Given the description of an element on the screen output the (x, y) to click on. 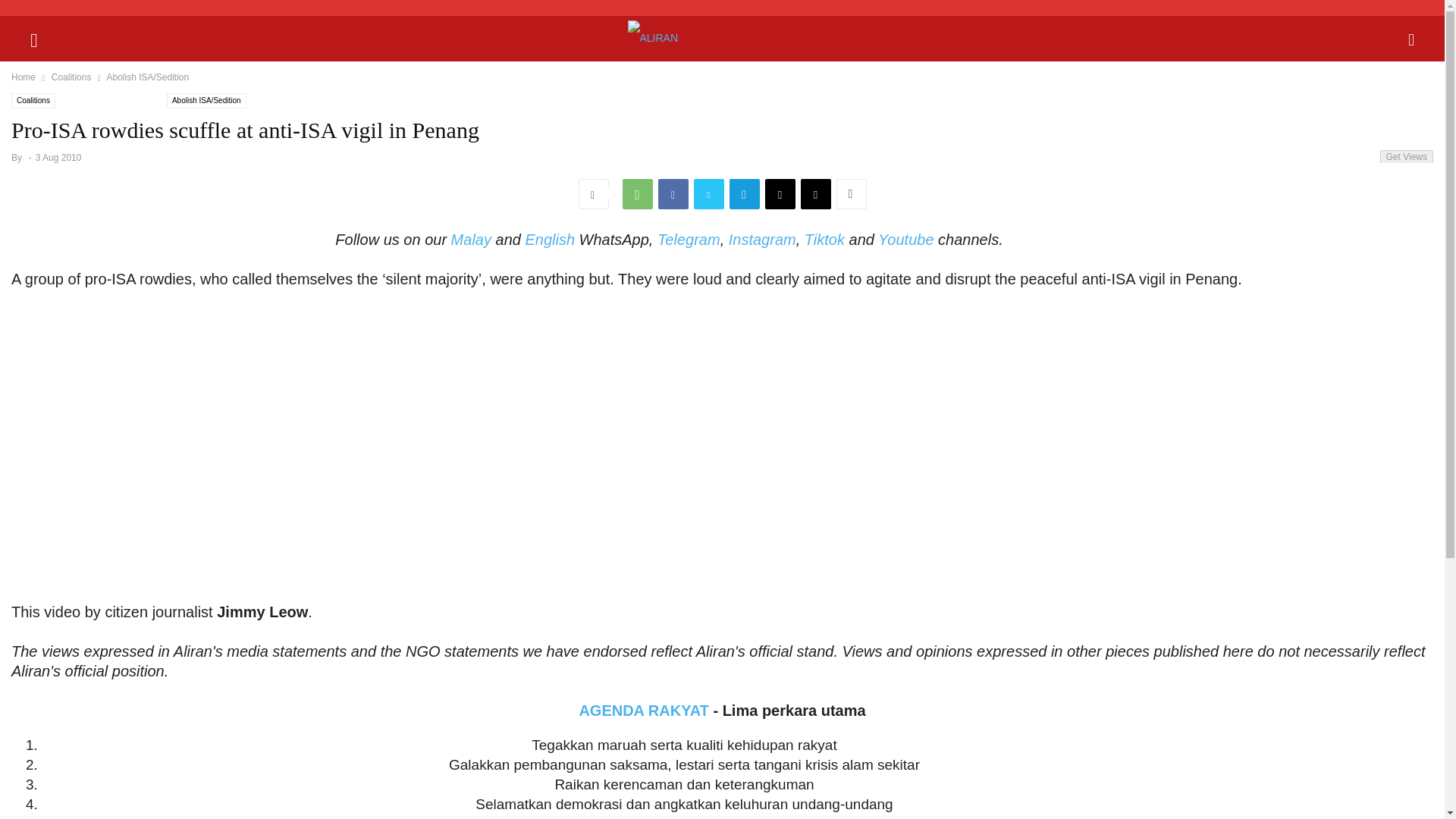
Coalitions (70, 77)
Twitter (708, 194)
WhatsApp (636, 194)
Search (26, 11)
Malay (471, 239)
Get Views (1406, 156)
Home (22, 77)
Facebook (673, 194)
Coalitions (33, 100)
Telegram (744, 194)
View all posts in Coalitions (70, 77)
